Given the description of an element on the screen output the (x, y) to click on. 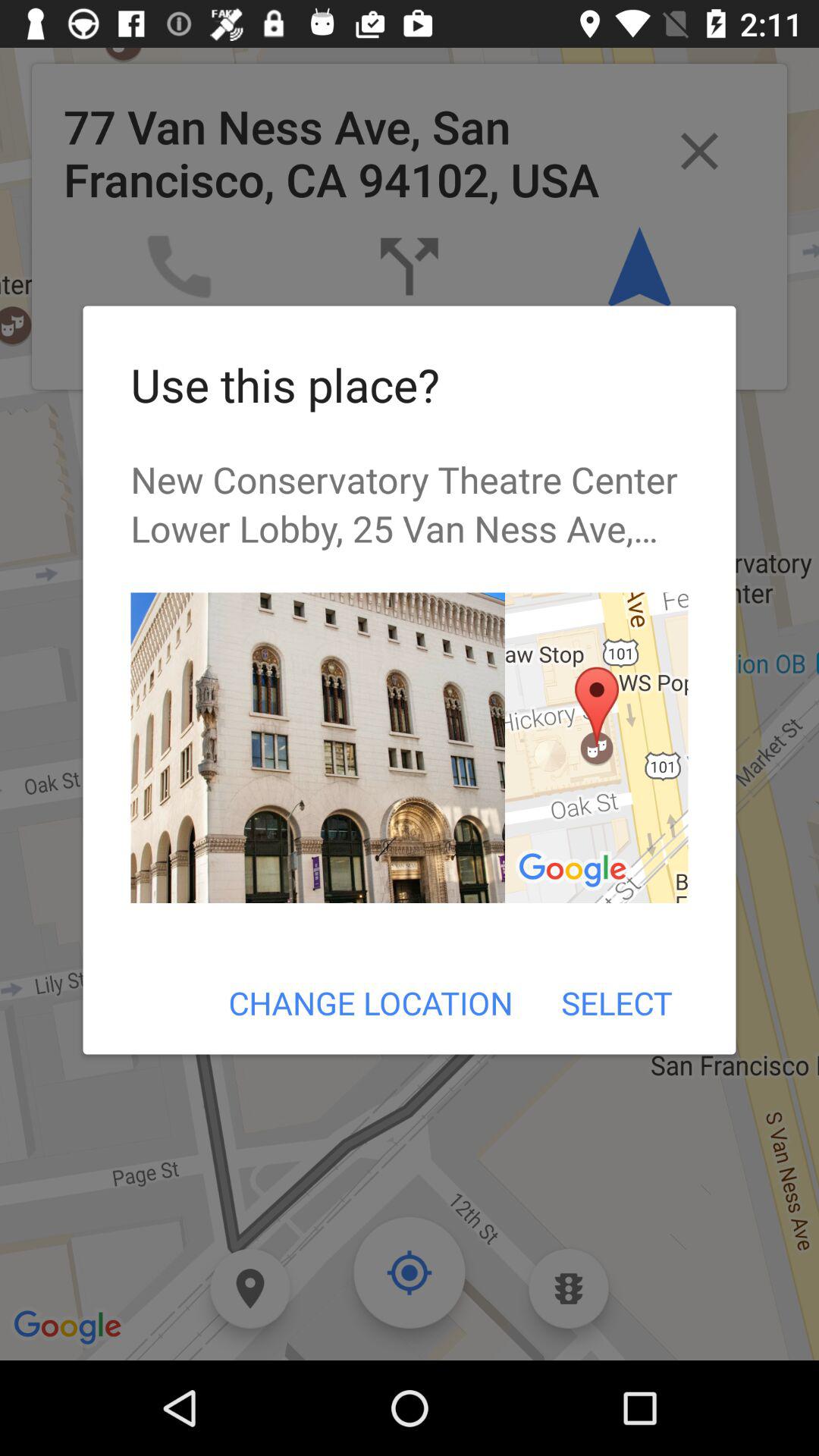
turn on item to the left of select icon (370, 1002)
